Given the description of an element on the screen output the (x, y) to click on. 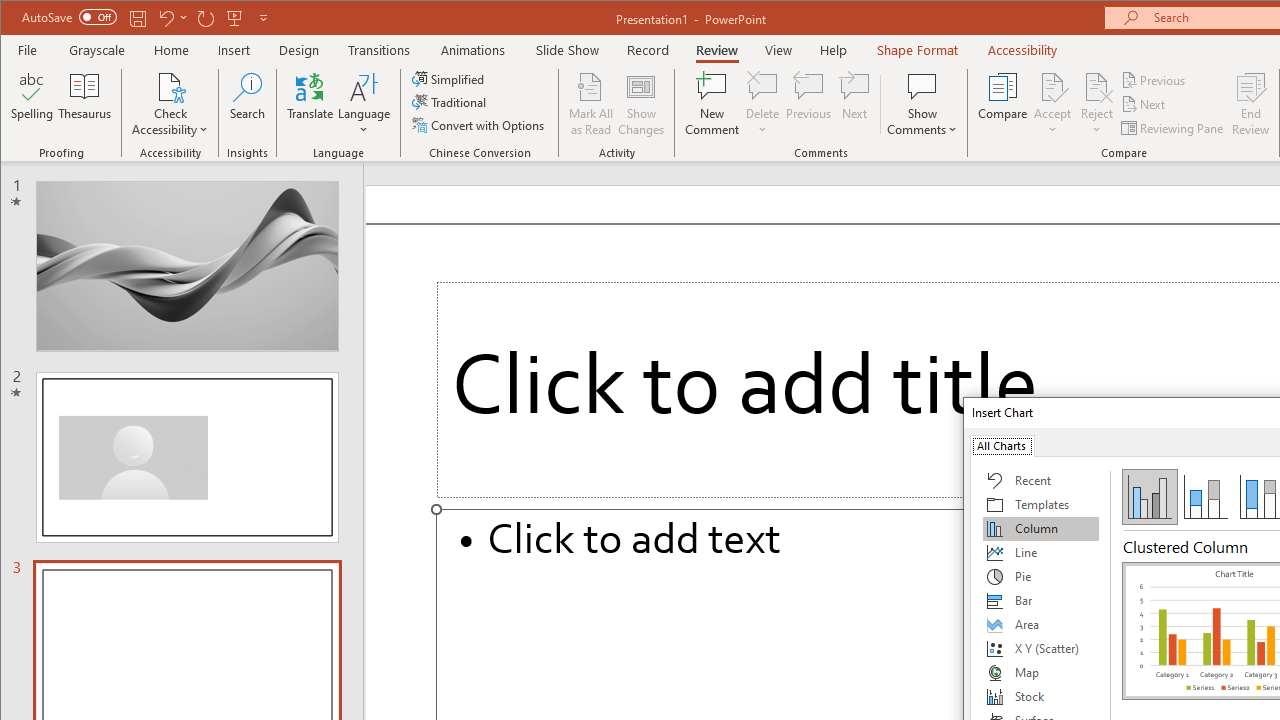
Bar (1041, 600)
Column (1041, 528)
Templates (1041, 504)
Reviewing Pane (1173, 127)
